Given the description of an element on the screen output the (x, y) to click on. 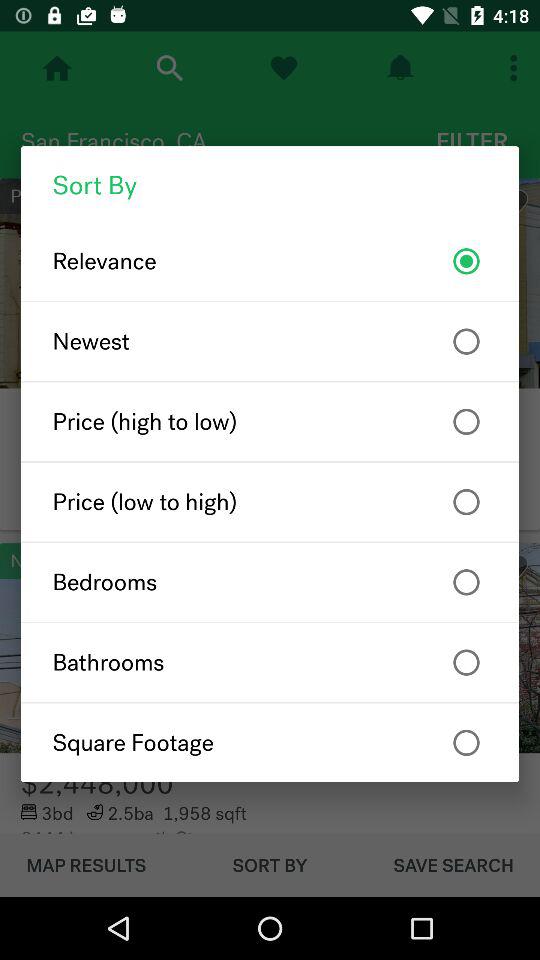
open the item above the price high to icon (270, 341)
